Given the description of an element on the screen output the (x, y) to click on. 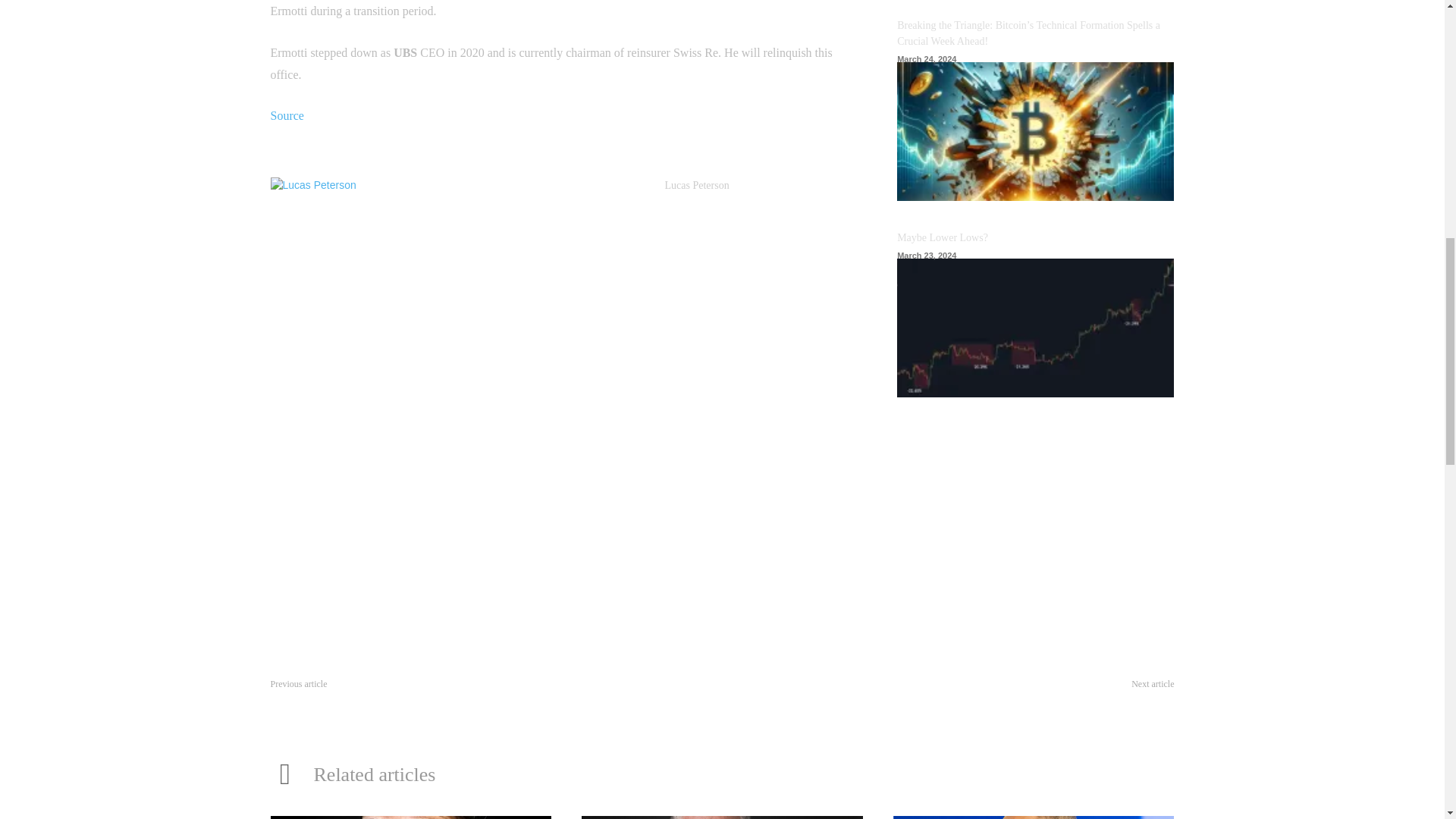
Lucas Peterson (696, 185)
Source (285, 115)
Maybe Lower Lows? (942, 237)
Maybe Lower Lows? (1034, 327)
Bafin Investigates Crypto.com! (1107, 701)
